Given the description of an element on the screen output the (x, y) to click on. 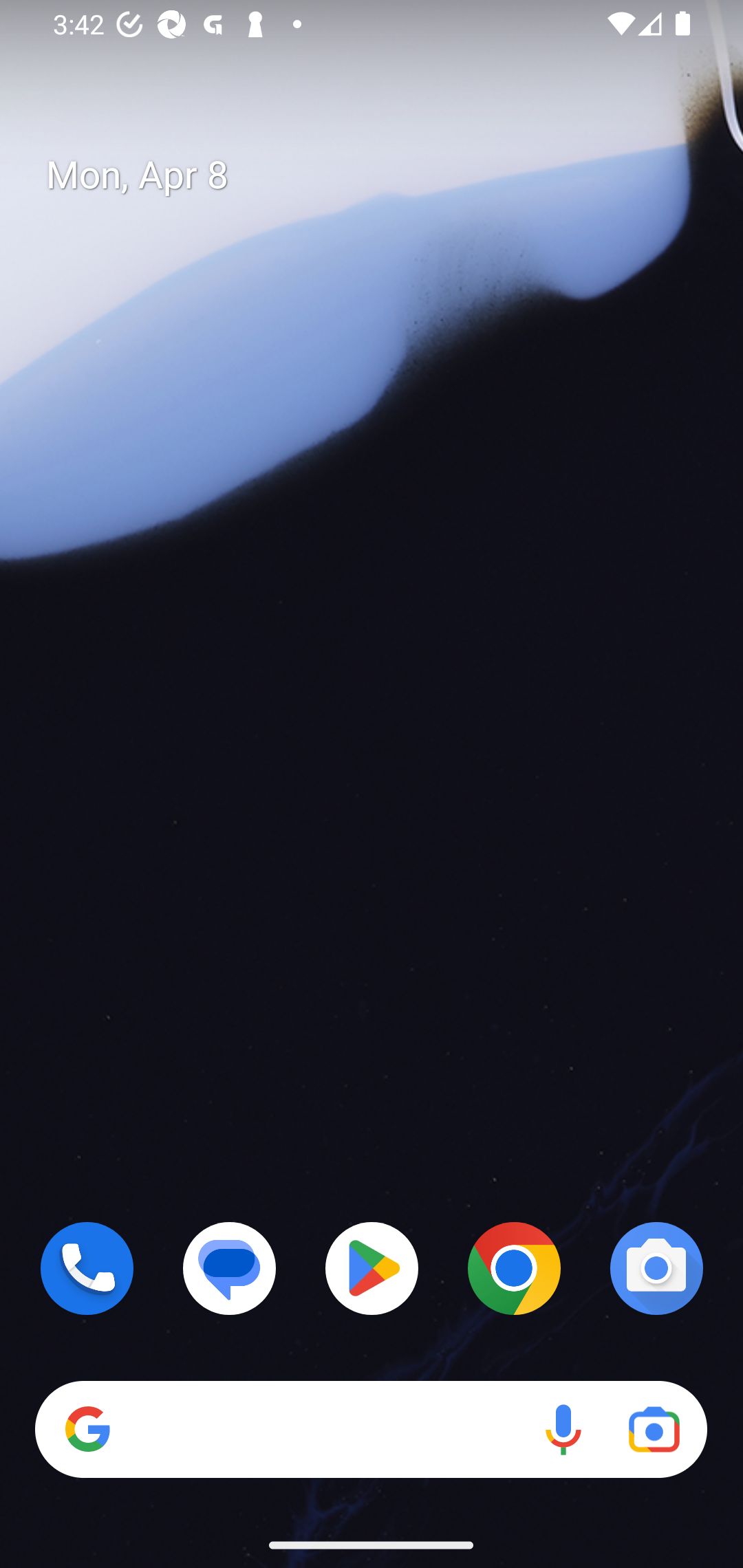
Mon, Apr 8 (386, 175)
Phone (86, 1268)
Messages (229, 1268)
Play Store (371, 1268)
Chrome (513, 1268)
Camera (656, 1268)
Search Voice search Google Lens (370, 1429)
Voice search (562, 1429)
Google Lens (653, 1429)
